Given the description of an element on the screen output the (x, y) to click on. 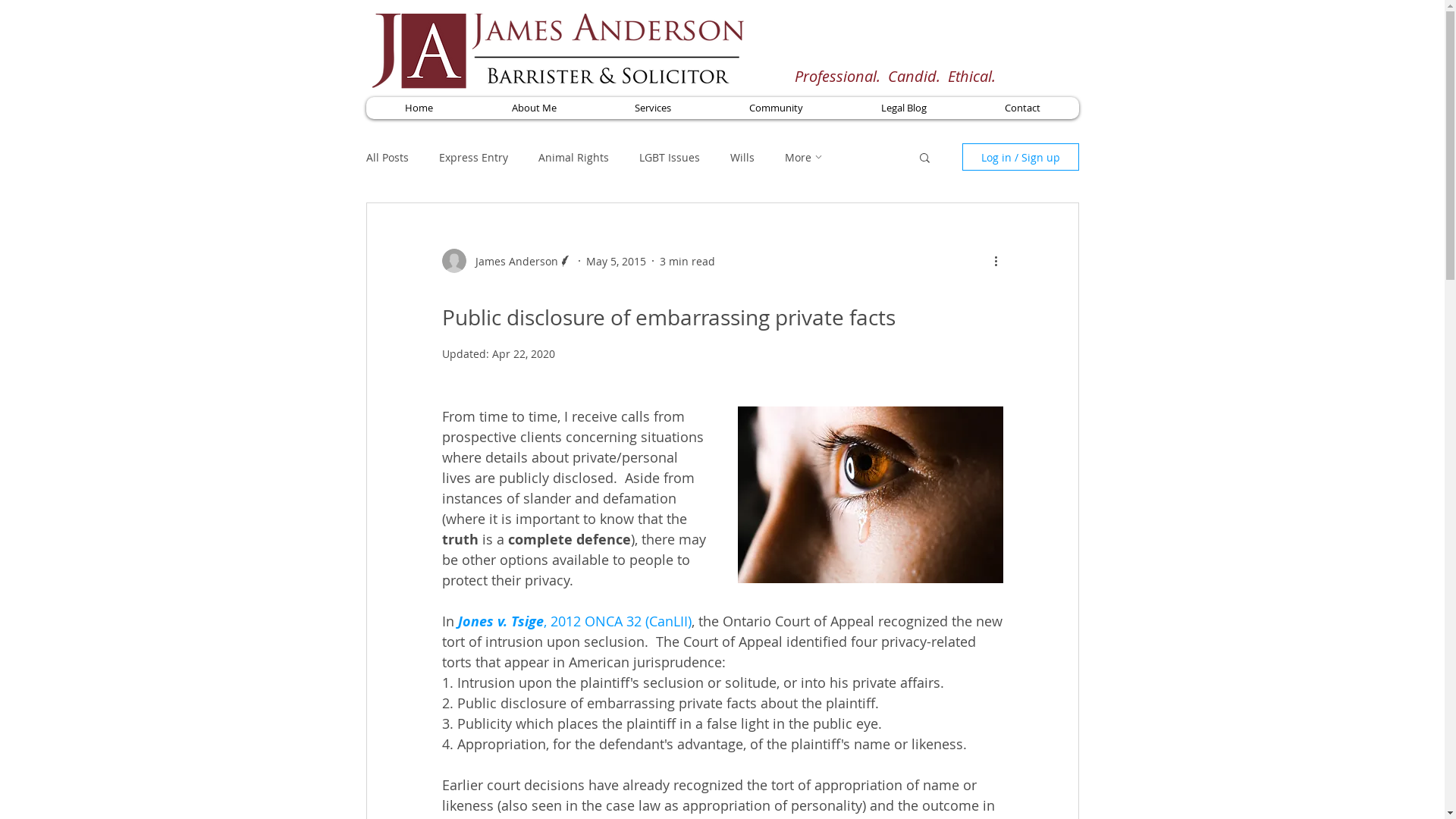
Log in / Sign up Element type: text (1019, 156)
Express Entry Element type: text (472, 157)
All Posts Element type: text (386, 157)
Jones v. Tsige, 2012 ONCA 32 (CanLII) Element type: text (574, 620)
Legal Blog Element type: text (903, 108)
Home Element type: text (418, 108)
Contact Element type: text (1021, 108)
Wills Element type: text (741, 157)
About Me Element type: text (532, 108)
Community Element type: text (775, 108)
Animal Rights Element type: text (573, 157)
LGBT Issues Element type: text (668, 157)
Services Element type: text (651, 108)
